Given the description of an element on the screen output the (x, y) to click on. 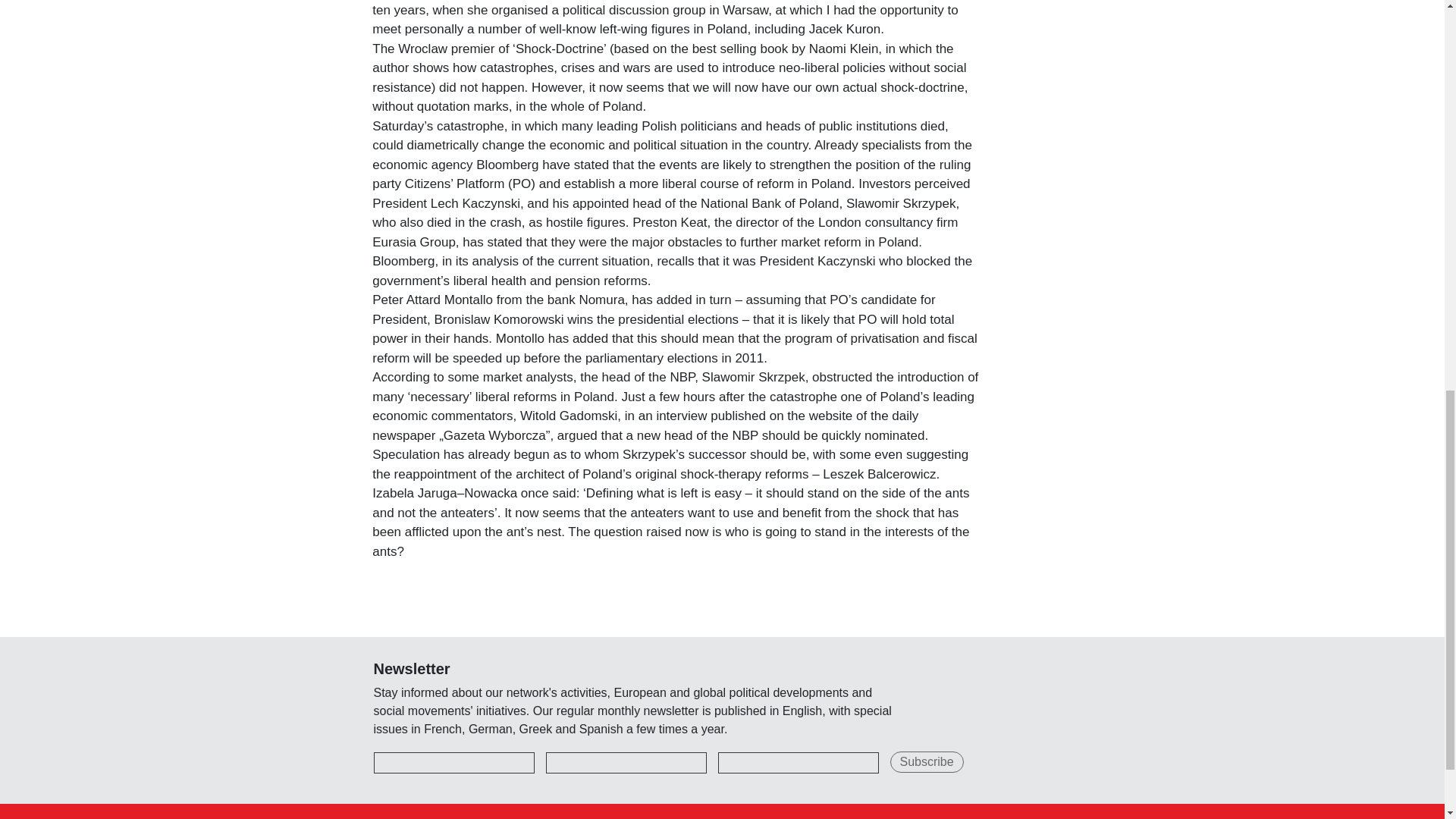
Subscribe (926, 762)
